Given the description of an element on the screen output the (x, y) to click on. 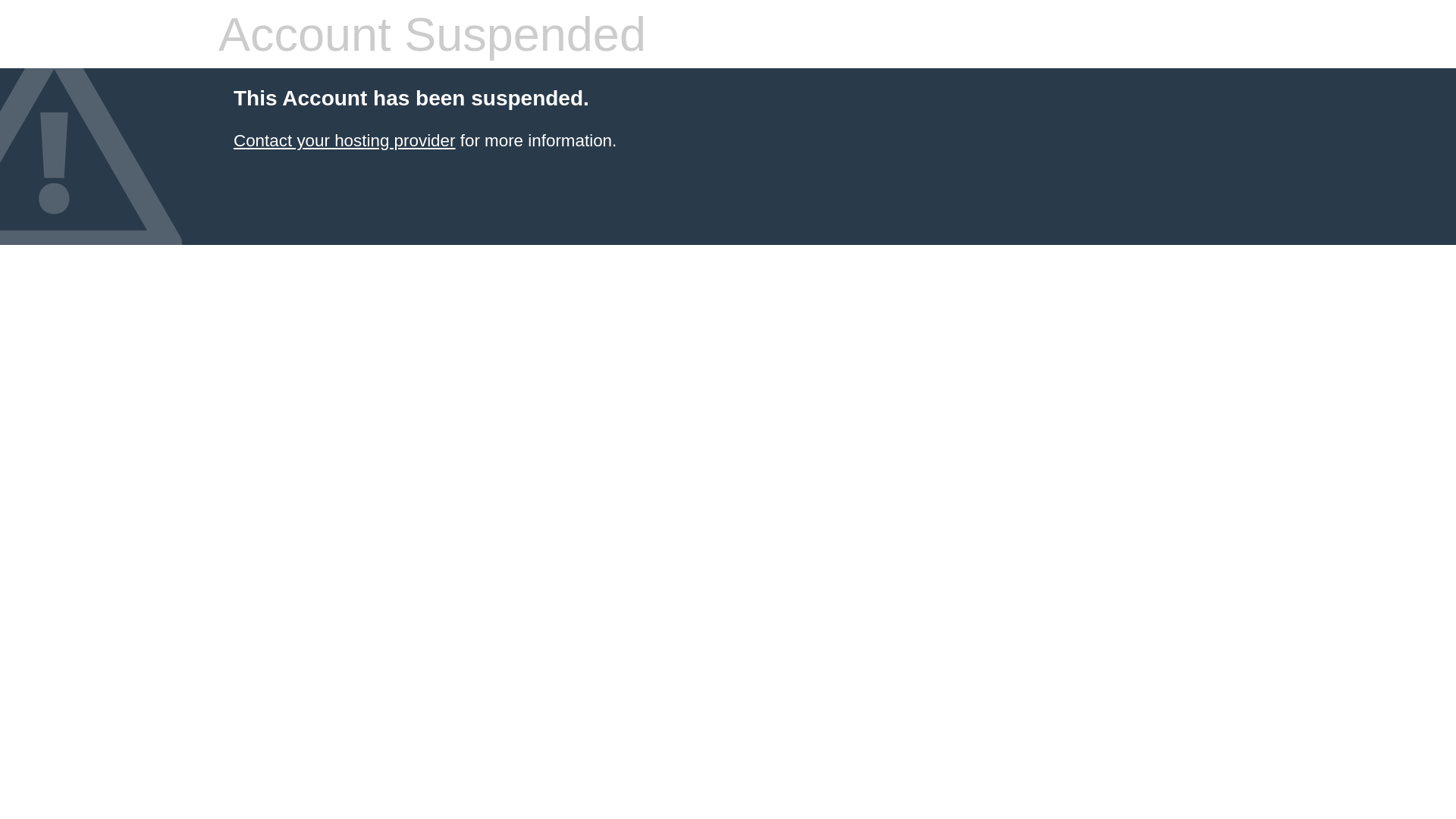
Contact your hosting provider Element type: text (344, 140)
